Given the description of an element on the screen output the (x, y) to click on. 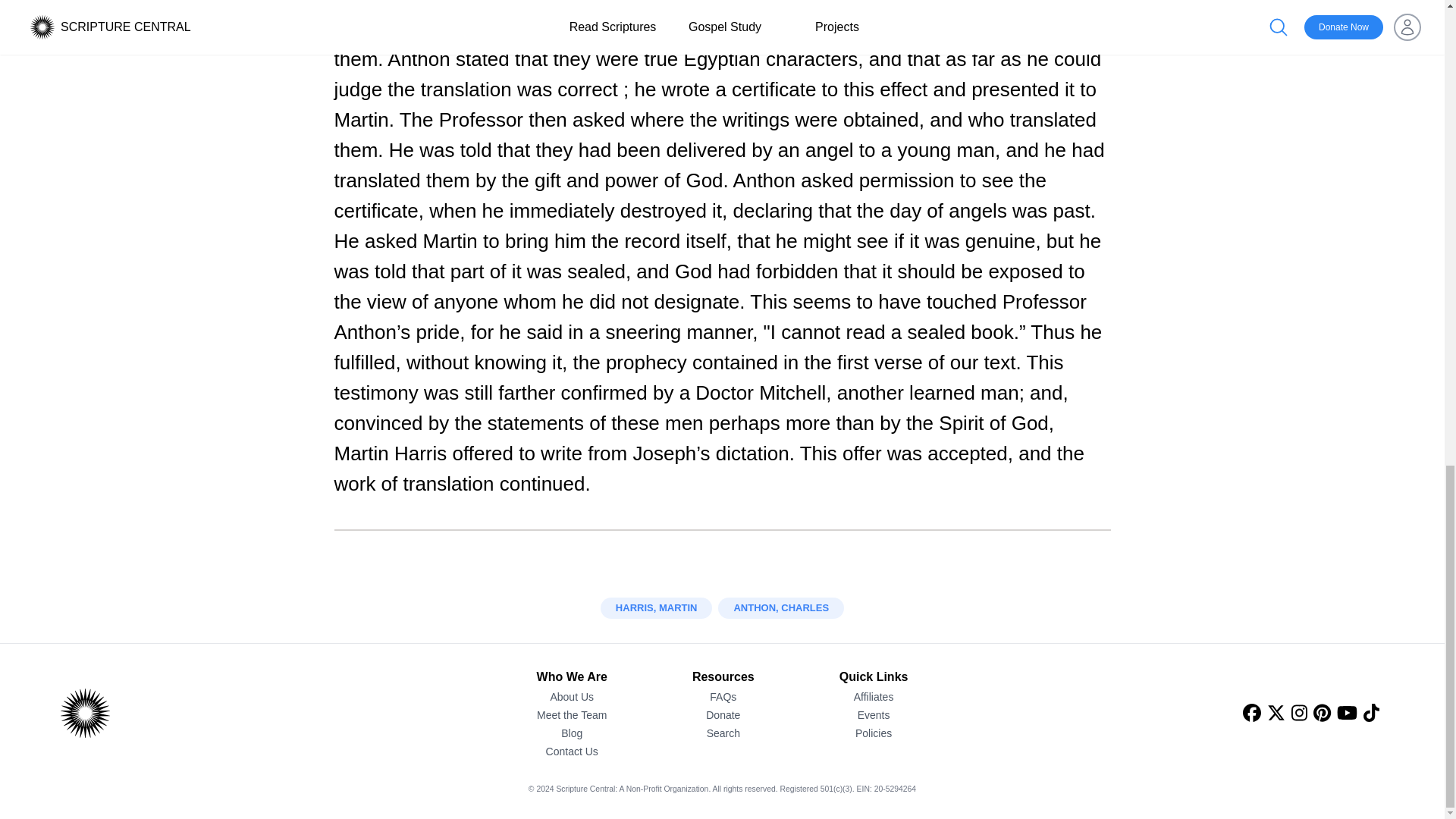
About Us (572, 695)
Blog (571, 732)
FAQs (723, 695)
Policies (873, 732)
Contact Us (572, 750)
Donate (722, 713)
Meet the Team (572, 713)
Events (873, 713)
Search (722, 732)
Affiliates (873, 695)
